Given the description of an element on the screen output the (x, y) to click on. 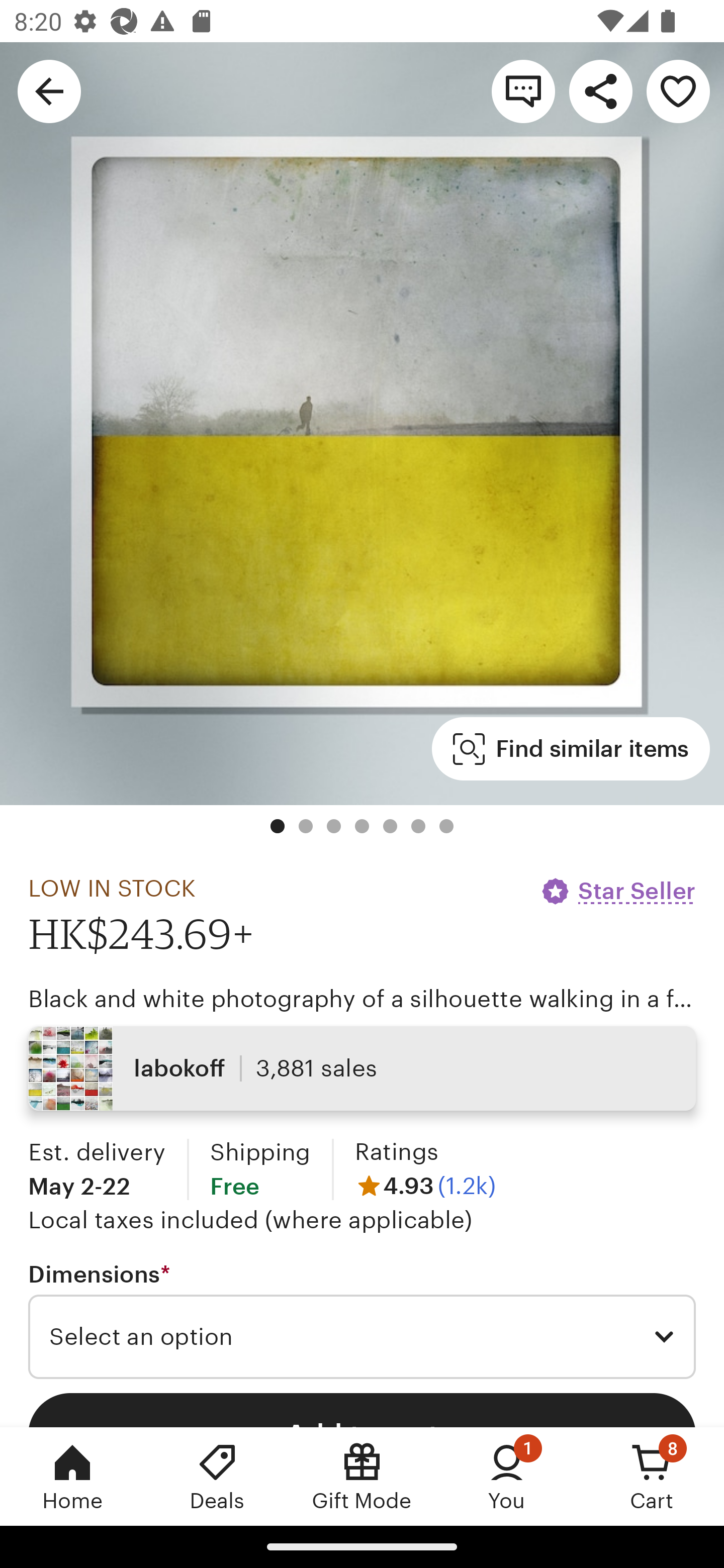
Navigate up (49, 90)
Contact shop (523, 90)
Share (600, 90)
Find similar items (571, 748)
Star Seller (617, 890)
labokoff 3,881 sales (361, 1067)
Ratings (396, 1151)
4.93 (1.2k) (424, 1185)
Dimensions * Required Select an option (361, 1319)
Select an option (361, 1336)
Deals (216, 1475)
Gift Mode (361, 1475)
You, 1 new notification You (506, 1475)
Cart, 8 new notifications Cart (651, 1475)
